Given the description of an element on the screen output the (x, y) to click on. 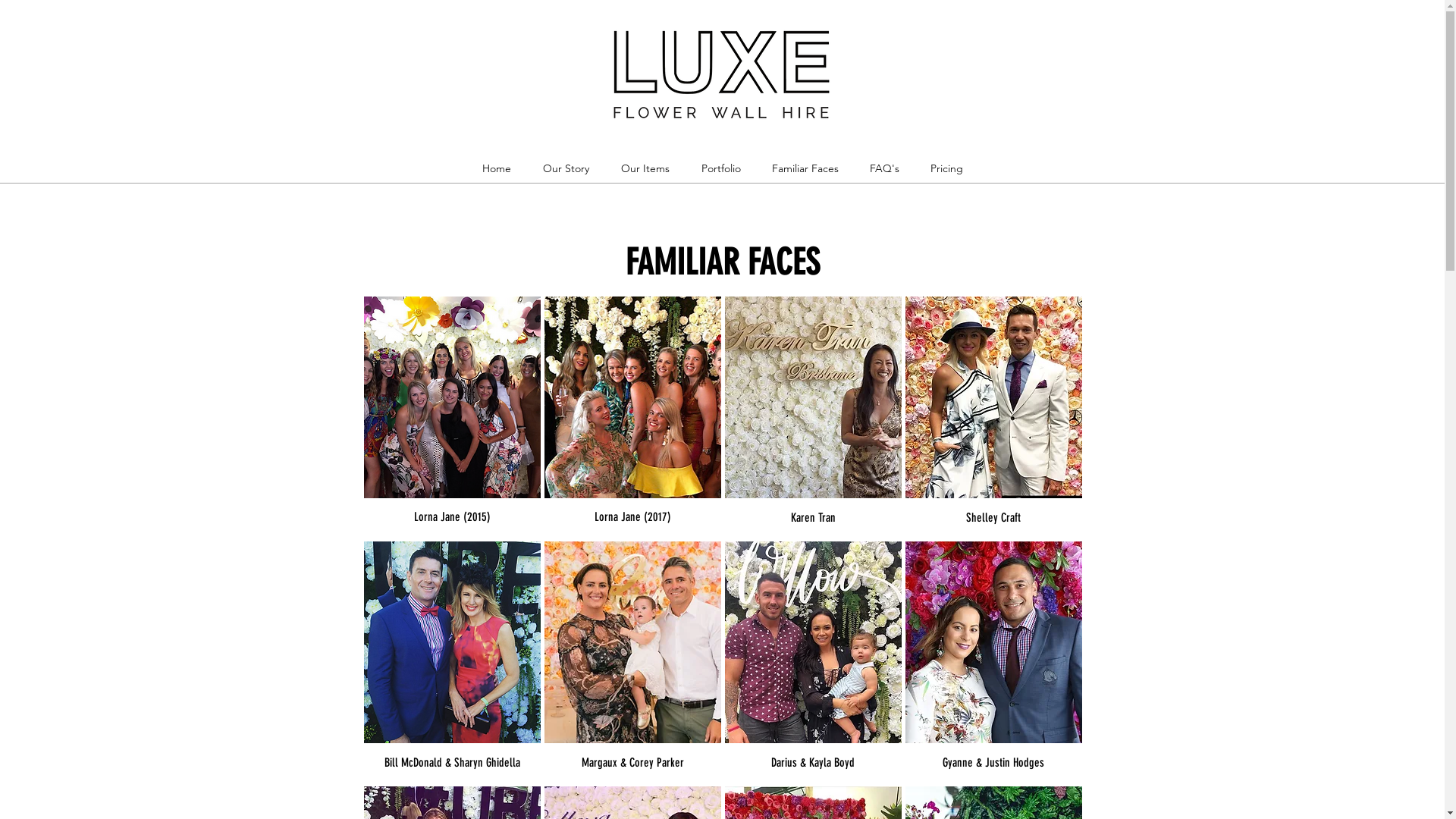
Pricing Element type: text (946, 168)
Our Items Element type: text (645, 168)
Home Element type: text (495, 168)
Familiar Faces Element type: text (805, 168)
Portfolio Element type: text (720, 168)
Our Story Element type: text (565, 168)
FAQ's Element type: text (883, 168)
